Given the description of an element on the screen output the (x, y) to click on. 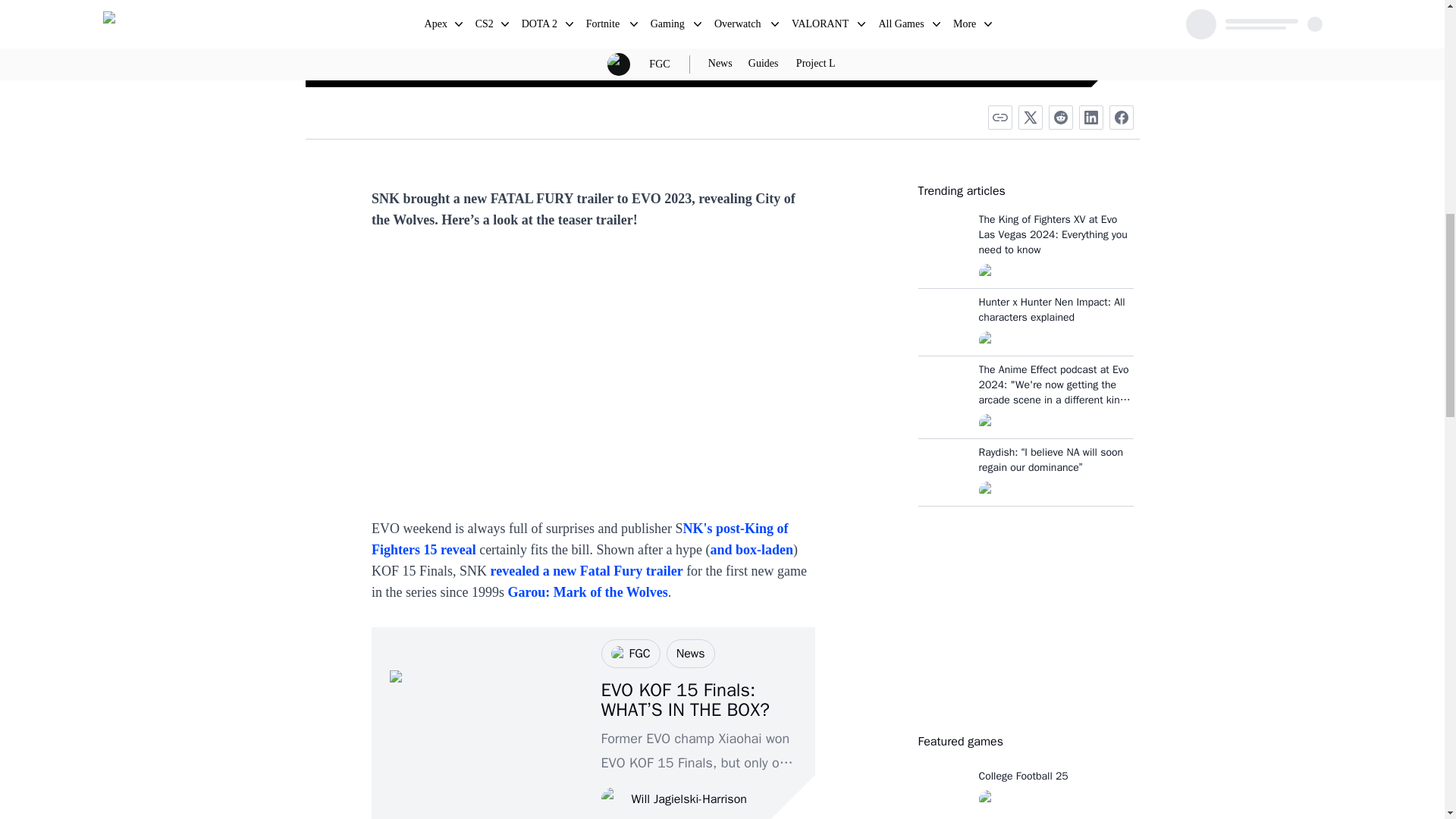
NK's post-King of Fighters 15 reveal (579, 538)
revealed a new Fatal Fury trailer (586, 570)
Garou: Mark of the Wolves (586, 591)
and box-laden (751, 549)
